Given the description of an element on the screen output the (x, y) to click on. 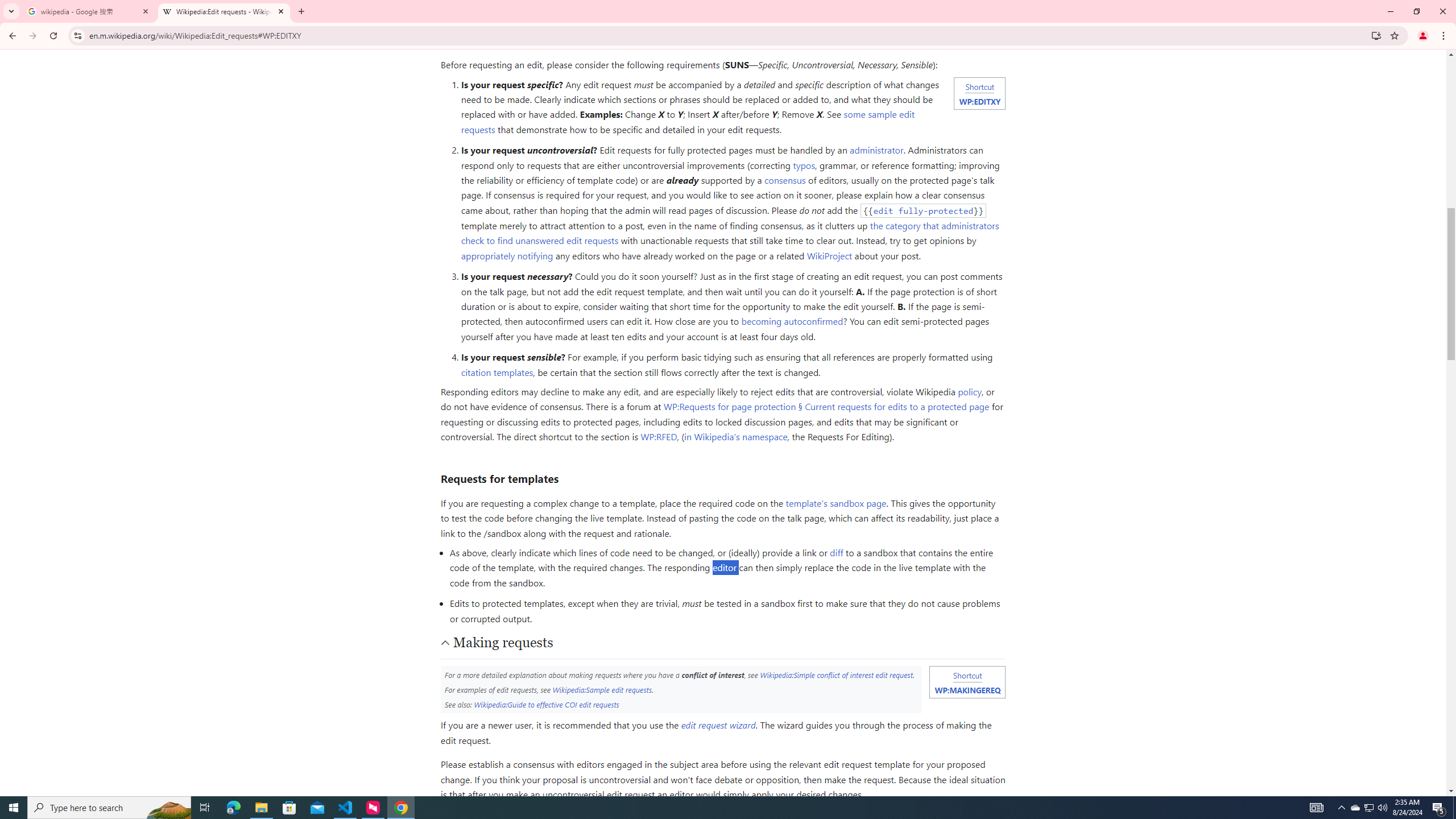
consensus (785, 179)
Wikipedia:Guide to effective COI edit requests (545, 703)
edit fully-protected (923, 210)
diff (836, 552)
WP:EDITXY (979, 100)
in Wikipedia's namespace (735, 436)
Install Wikipedia (1376, 35)
becoming autoconfirmed (792, 321)
